Given the description of an element on the screen output the (x, y) to click on. 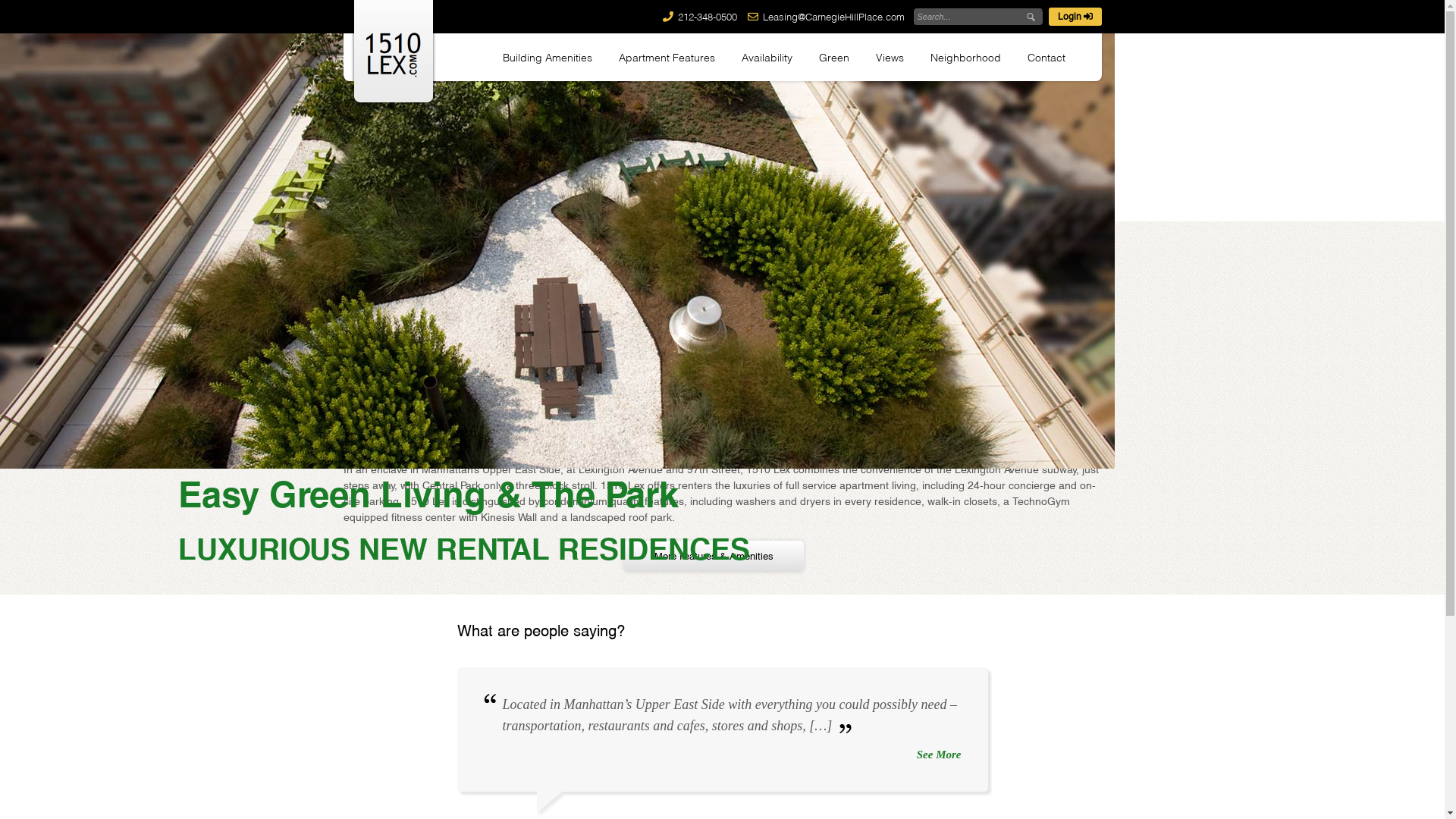
See More Element type: text (731, 754)
Apartment Features Element type: text (666, 57)
More Features & Amenities Element type: text (713, 555)
Building Amenities Element type: text (546, 57)
Green Building Element type: text (718, 137)
Easy Green Living & The Park
LUXURIOUS NEW RENTAL RESIDENCES Element type: text (557, 519)
Login Element type: text (1074, 16)
Leasing@CarnegieHillPlace.com Element type: text (833, 16)
Availability Element type: text (766, 57)
Views Element type: text (889, 57)
Green Element type: text (834, 57)
Carnegie Hill Place Element type: text (983, 137)
Best Overall Value Element type: text (452, 137)
Neighborhood Element type: text (964, 57)
212-348-0500 Element type: text (707, 16)
Contact Element type: text (1045, 57)
